Given the description of an element on the screen output the (x, y) to click on. 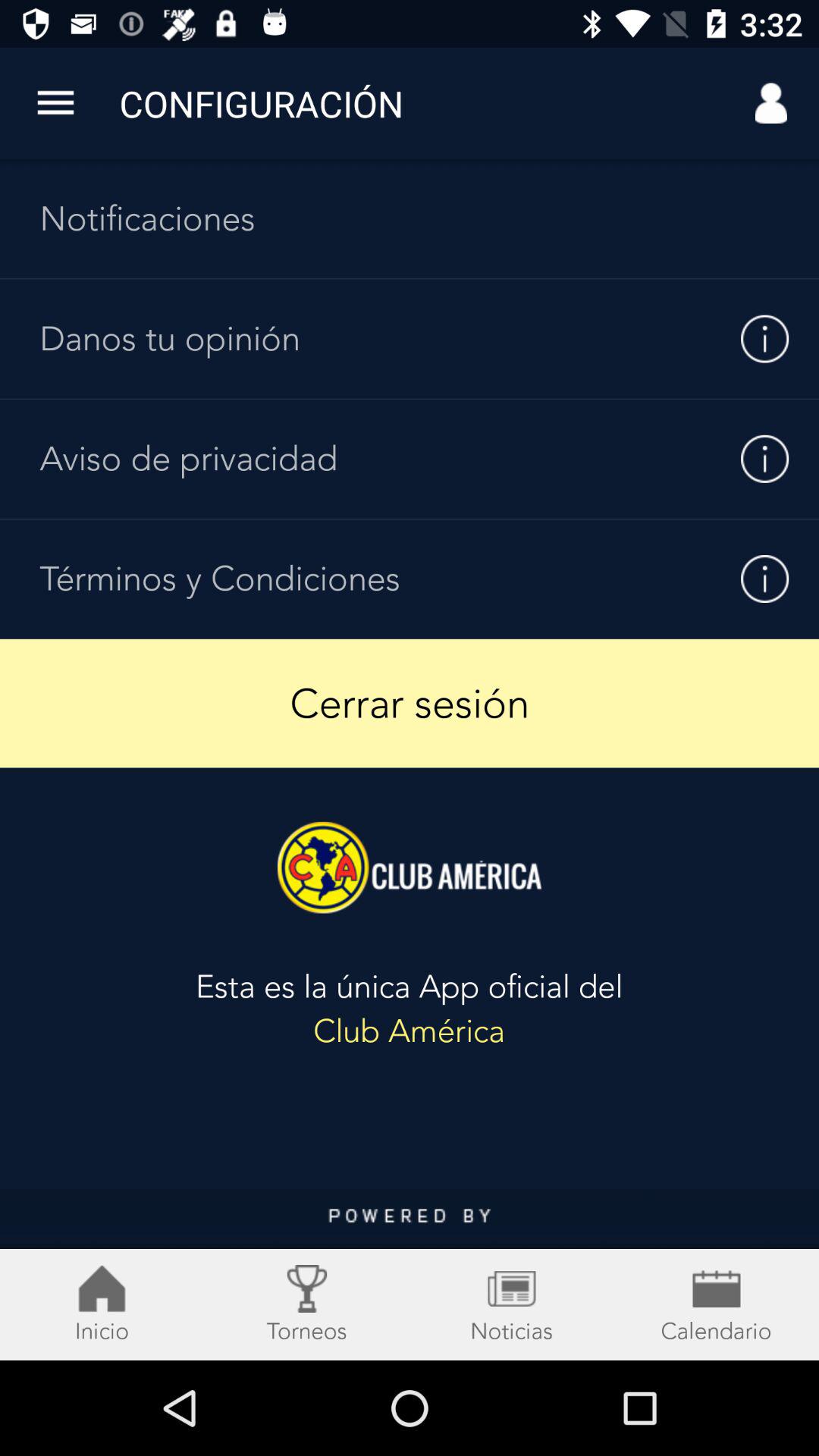
more options (55, 103)
